Given the description of an element on the screen output the (x, y) to click on. 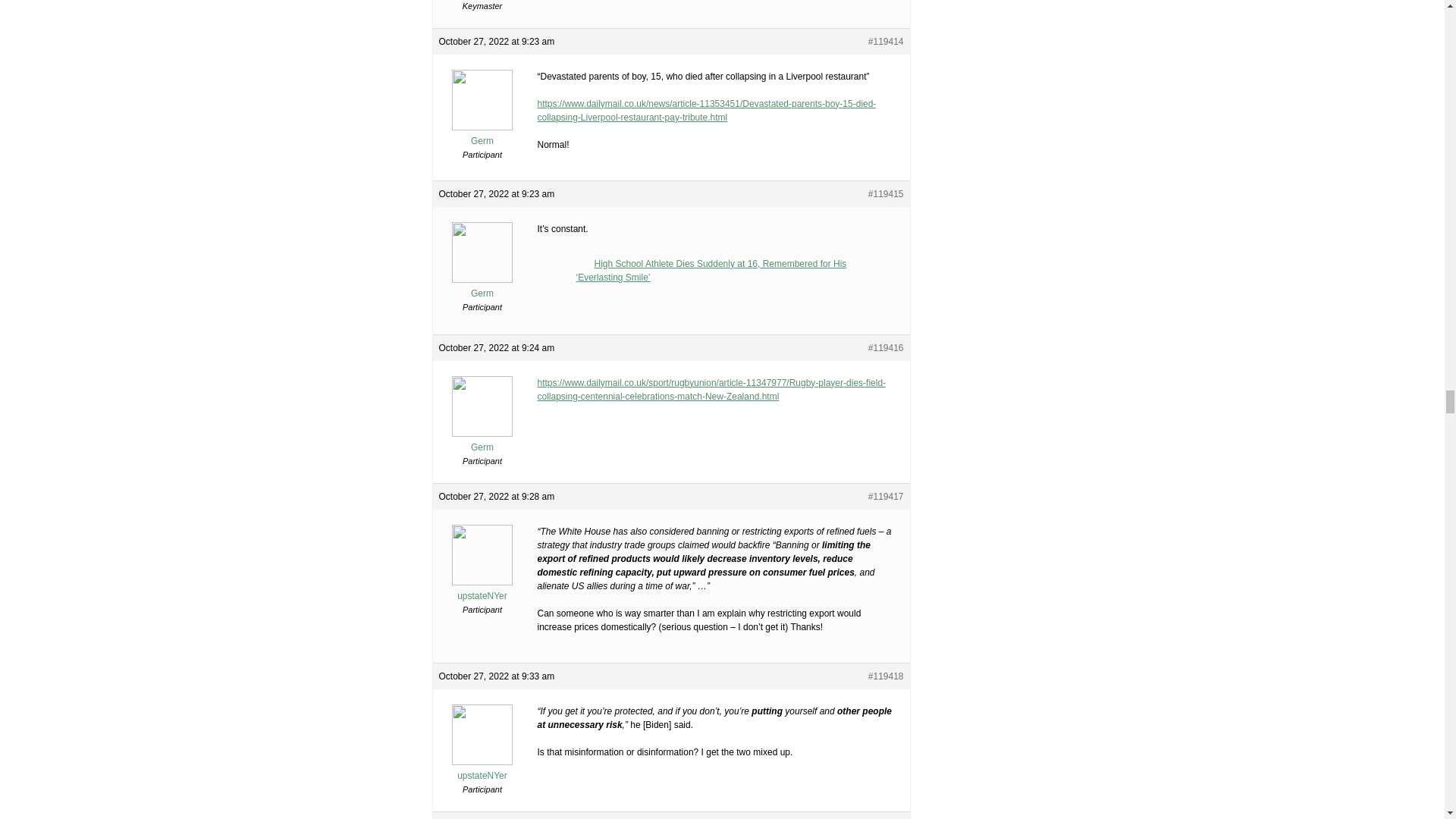
View upstateNYer's profile (481, 769)
View Germ's profile (481, 441)
View Germ's profile (481, 135)
View upstateNYer's profile (481, 589)
View Germ's profile (481, 287)
